Given the description of an element on the screen output the (x, y) to click on. 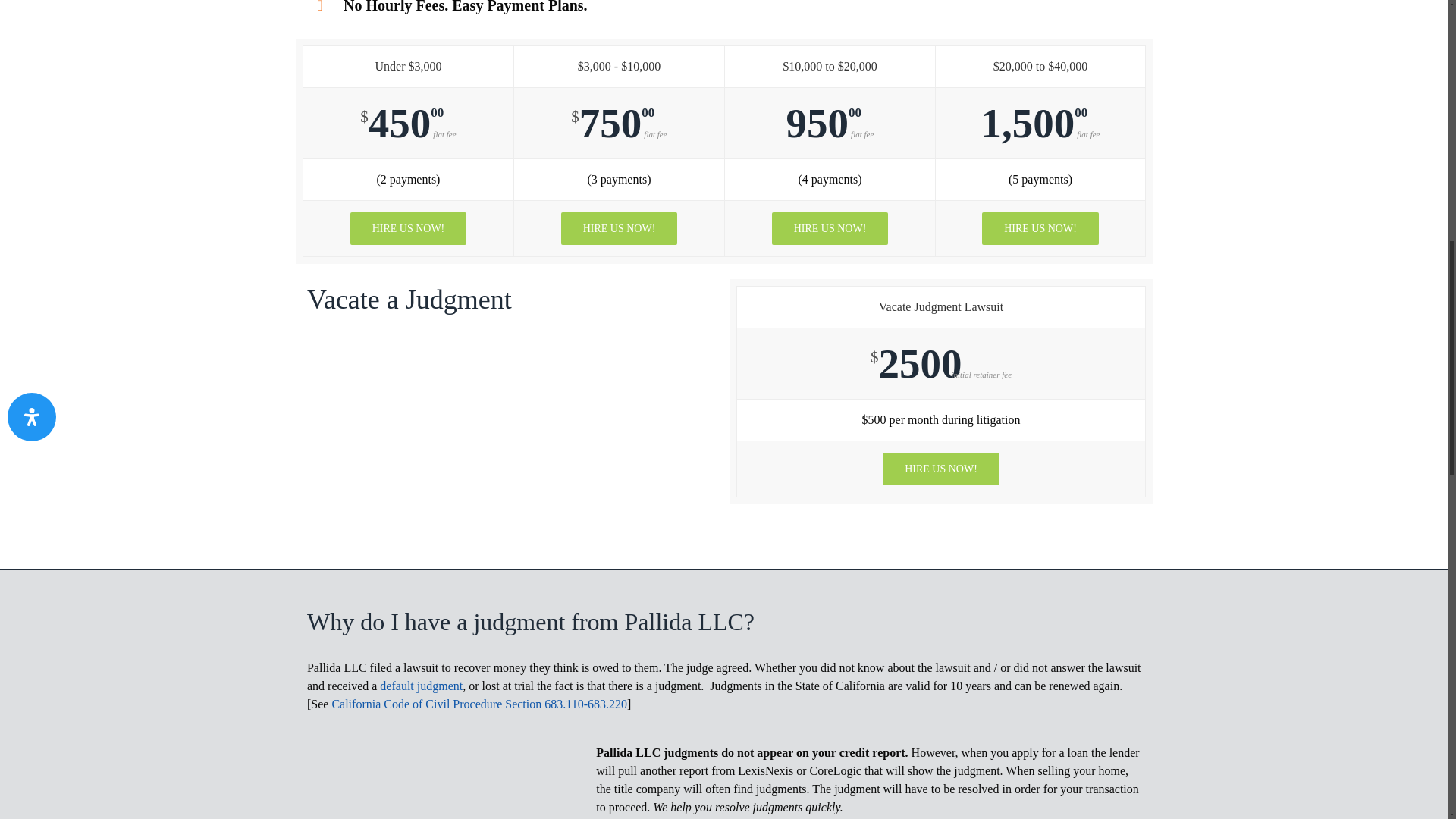
HIRE US NOW! (829, 228)
HIRE US NOW! (408, 228)
California Code of Civil Procedure Section 683.110-683.220 (479, 703)
default judgment (421, 685)
HIRE US NOW! (619, 228)
HIRE US NOW! (1040, 228)
HIRE US NOW! (940, 468)
